Given the description of an element on the screen output the (x, y) to click on. 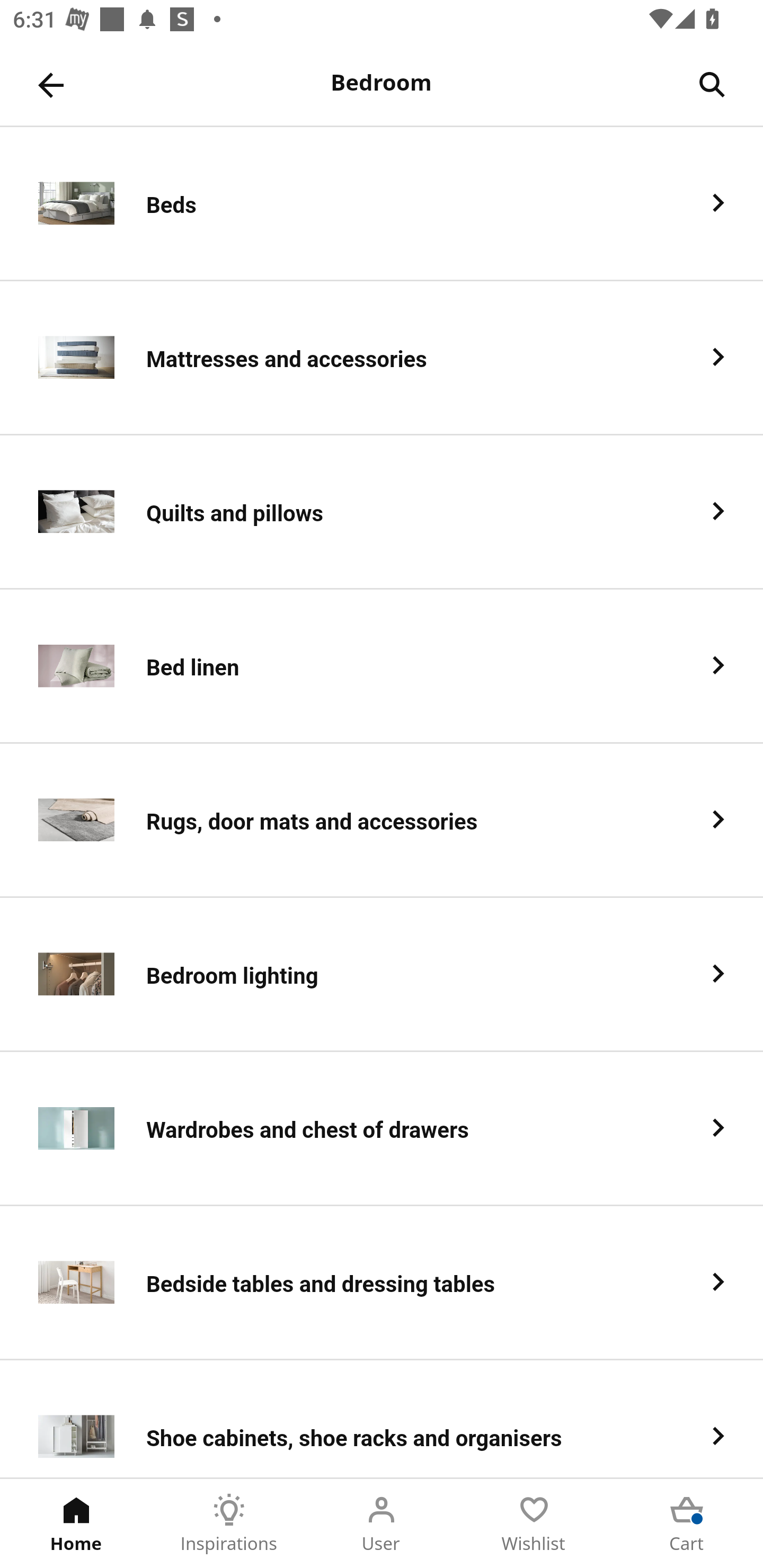
Beds (381, 203)
Mattresses and accessories (381, 357)
Quilts and pillows (381, 512)
Bed linen (381, 666)
Rugs, door mats and accessories (381, 820)
Bedroom lighting (381, 975)
Wardrobes and chest of drawers (381, 1128)
Bedside tables and dressing tables (381, 1283)
Shoe cabinets, shoe racks and organisers (381, 1419)
Home
Tab 1 of 5 (76, 1522)
Inspirations
Tab 2 of 5 (228, 1522)
User
Tab 3 of 5 (381, 1522)
Wishlist
Tab 4 of 5 (533, 1522)
Cart
Tab 5 of 5 (686, 1522)
